Given the description of an element on the screen output the (x, y) to click on. 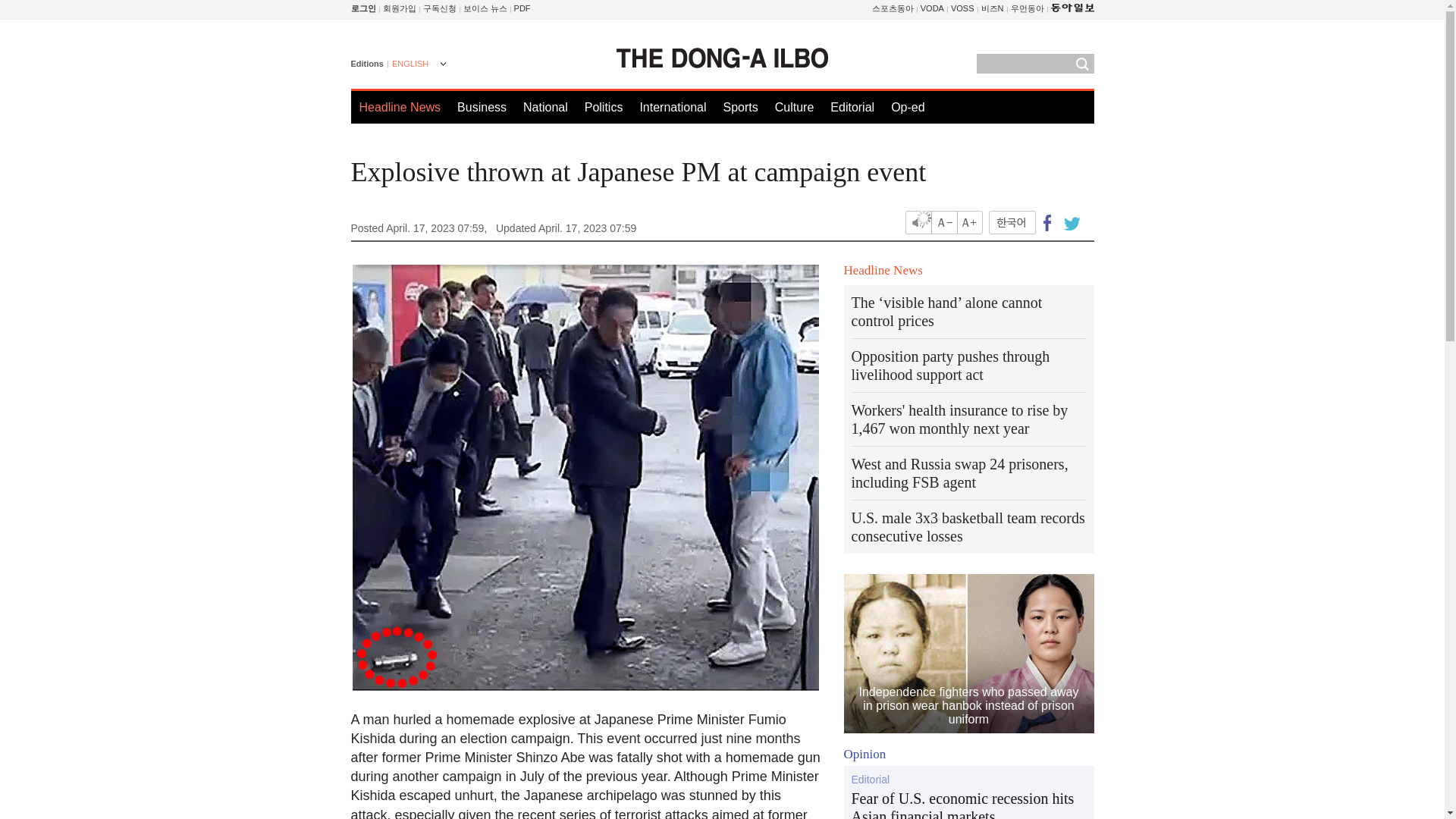
VOICE (484, 8)
BIZN (992, 8)
SPORTS (893, 8)
ENGLISH (416, 65)
International (672, 106)
PDF (522, 8)
Editorial (852, 106)
Culture (793, 106)
VOSS (962, 8)
VODA (931, 8)
Font size up (969, 222)
Op-ed (907, 106)
Business (481, 106)
Share this article on Facebook (1047, 222)
Headline News (400, 106)
